Given the description of an element on the screen output the (x, y) to click on. 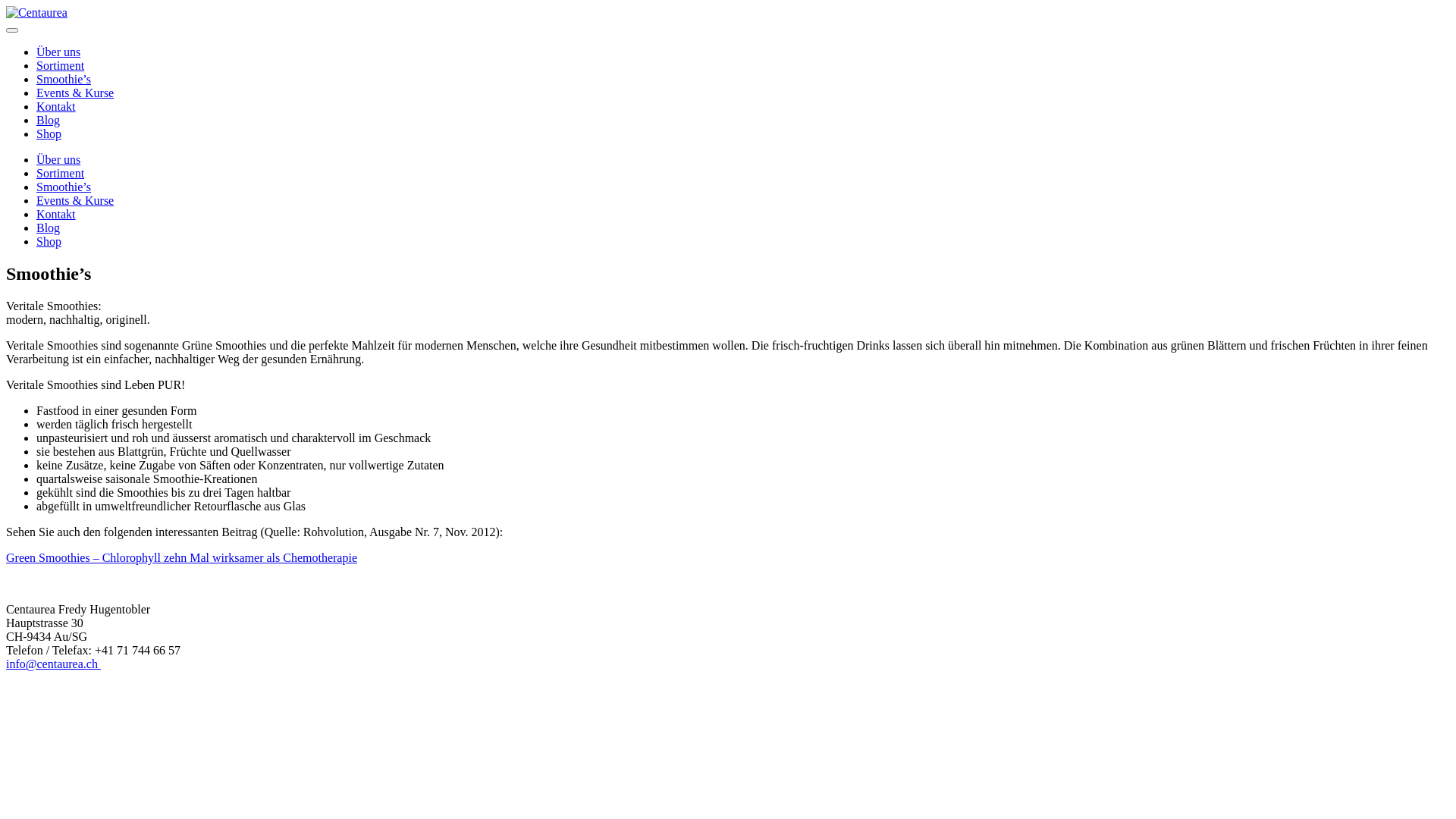
Shop Element type: text (48, 241)
info@centaurea.ch  Element type: text (53, 663)
Blog Element type: text (47, 119)
Kontakt Element type: text (55, 213)
Events & Kurse Element type: text (74, 200)
Kontakt Element type: text (55, 106)
Events & Kurse Element type: text (74, 92)
Shop Element type: text (48, 133)
Sortiment Element type: text (60, 65)
Sortiment Element type: text (60, 172)
Blog Element type: text (47, 227)
